Given the description of an element on the screen output the (x, y) to click on. 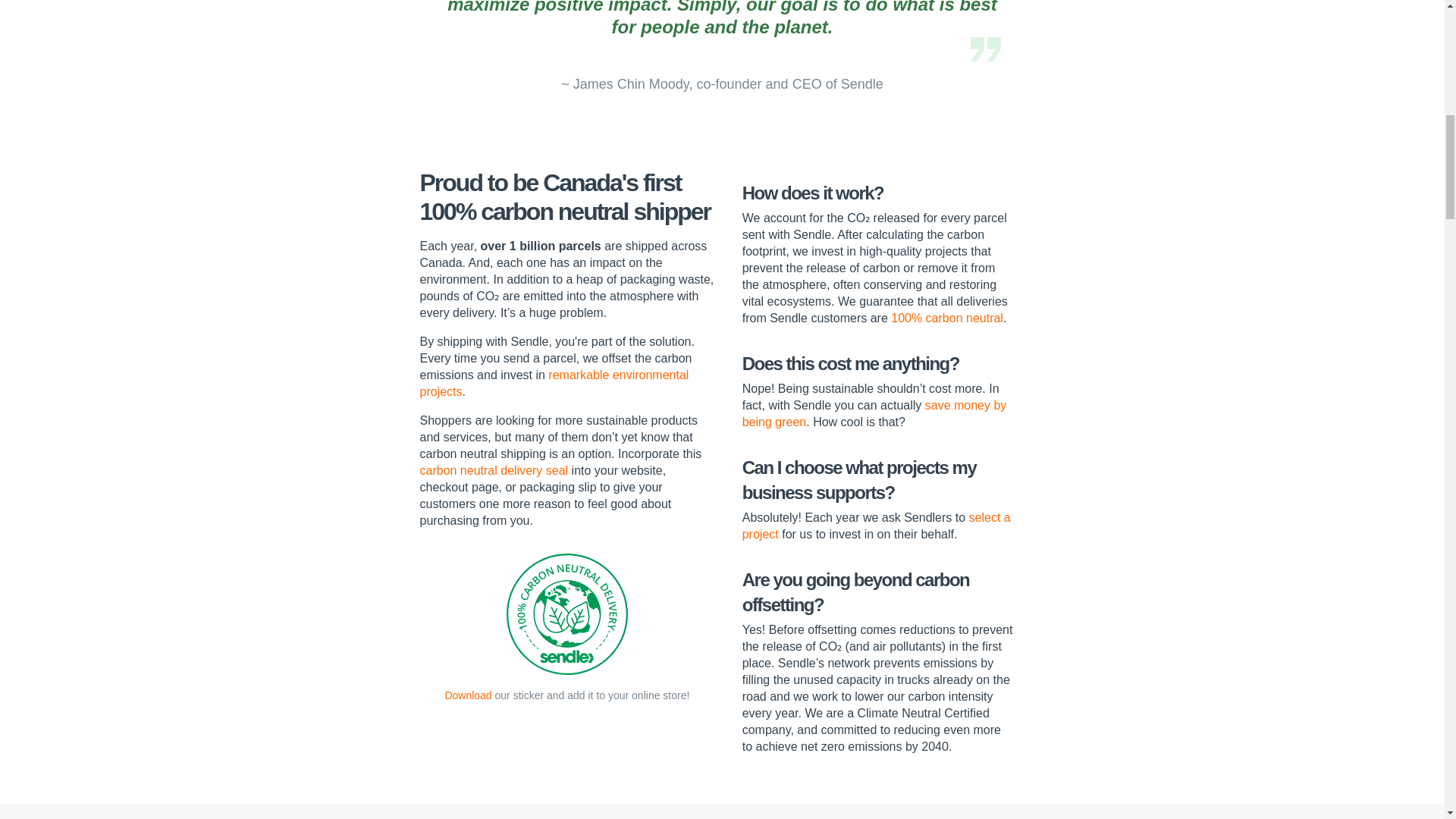
Download (468, 695)
remarkable environmental projects (554, 383)
save money by being green (874, 413)
select a project (876, 525)
carbon neutral delivery seal (494, 470)
